Given the description of an element on the screen output the (x, y) to click on. 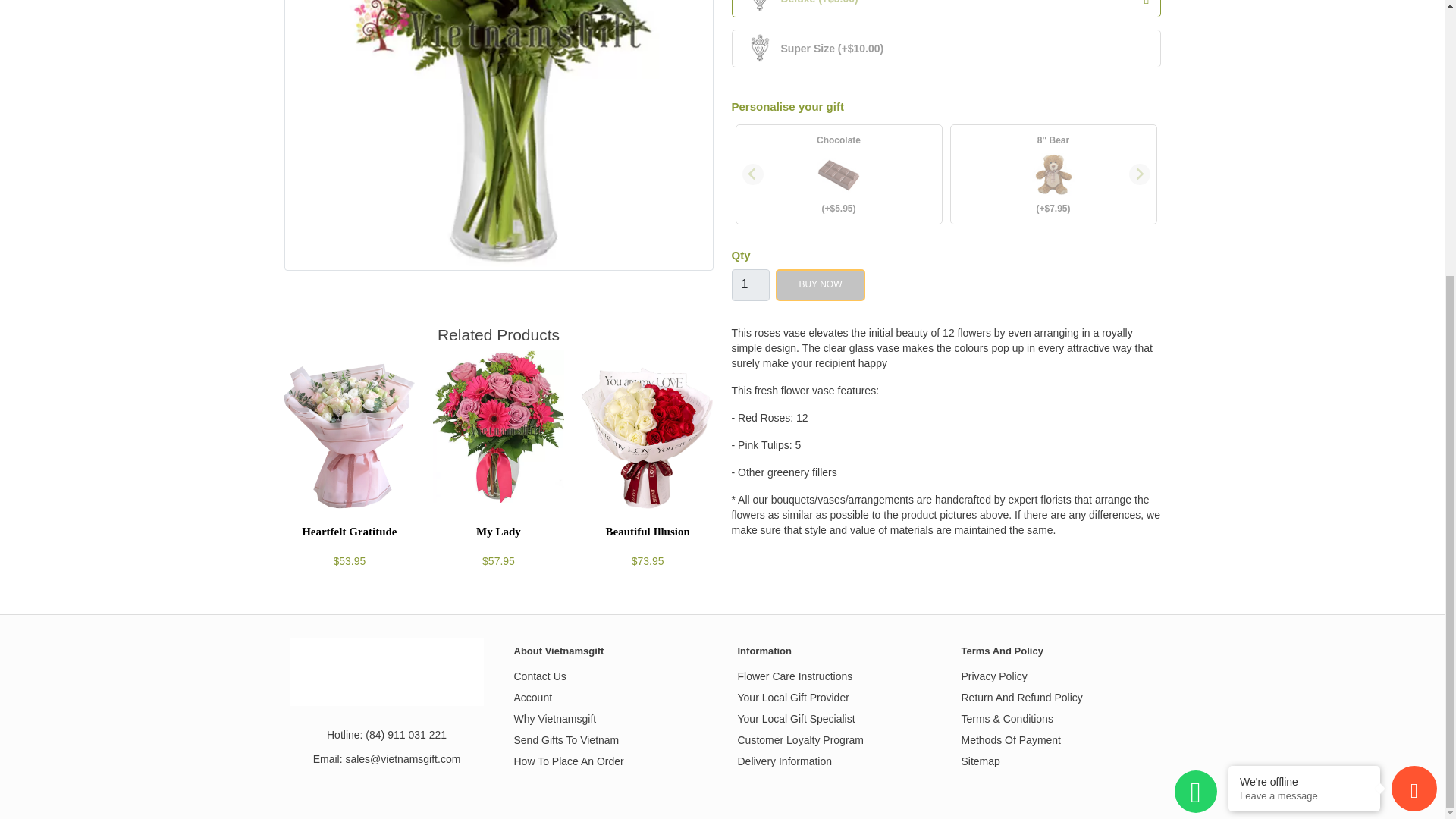
vietnamsgift (386, 671)
1 (749, 285)
Leave a message (1304, 388)
We're offline (1304, 374)
Initial Beauty (498, 135)
Initial Beauty (498, 25)
